Given the description of an element on the screen output the (x, y) to click on. 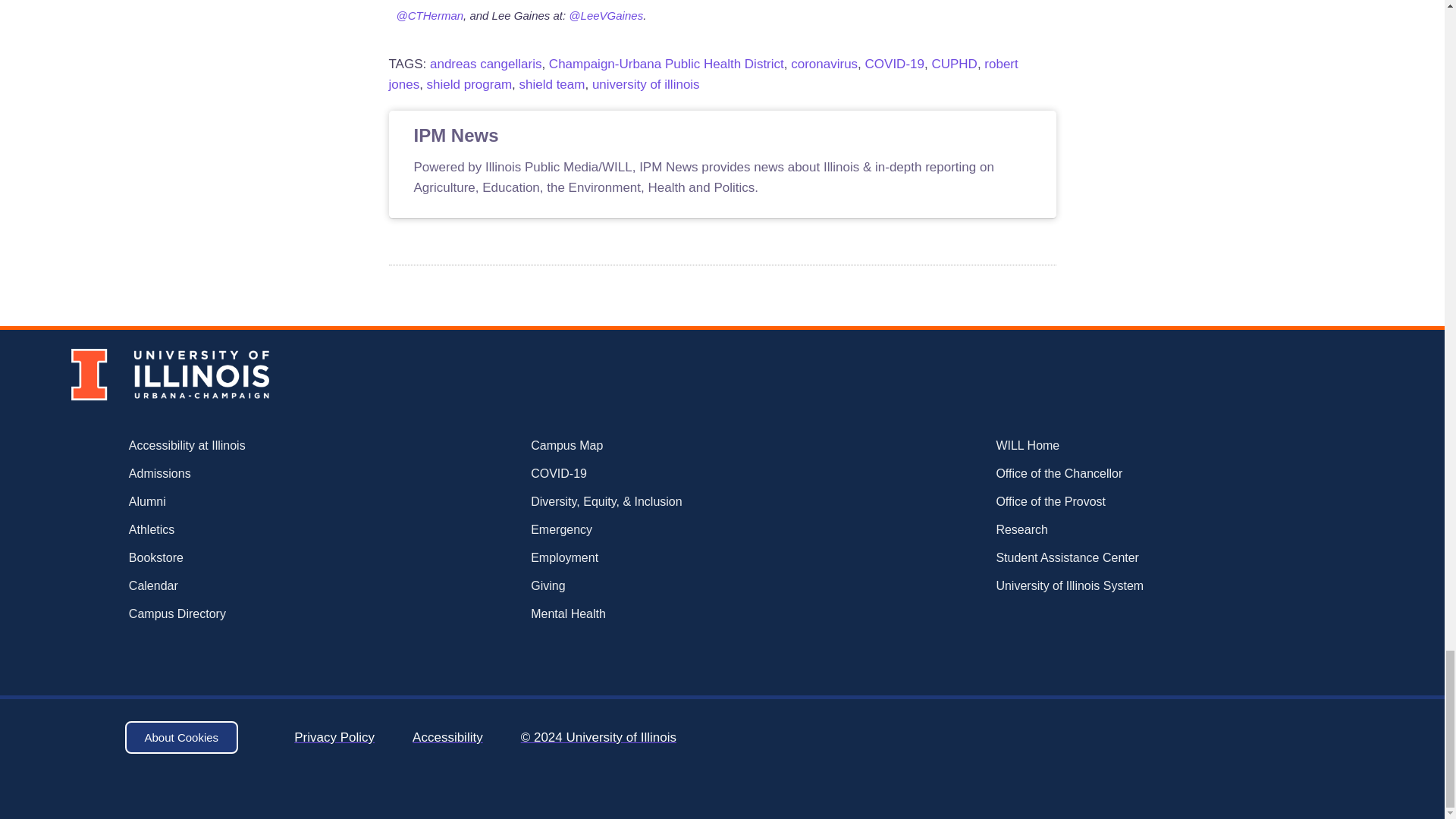
andreas cangellaris (485, 63)
coronavirus (823, 63)
Accessibility at Illinois (235, 445)
Champaign-Urbana Public Health District (666, 63)
Athletics (235, 529)
COVID-19 (894, 63)
Admissions (235, 474)
Alumni (235, 502)
shield program (469, 83)
shield team (551, 83)
